Given the description of an element on the screen output the (x, y) to click on. 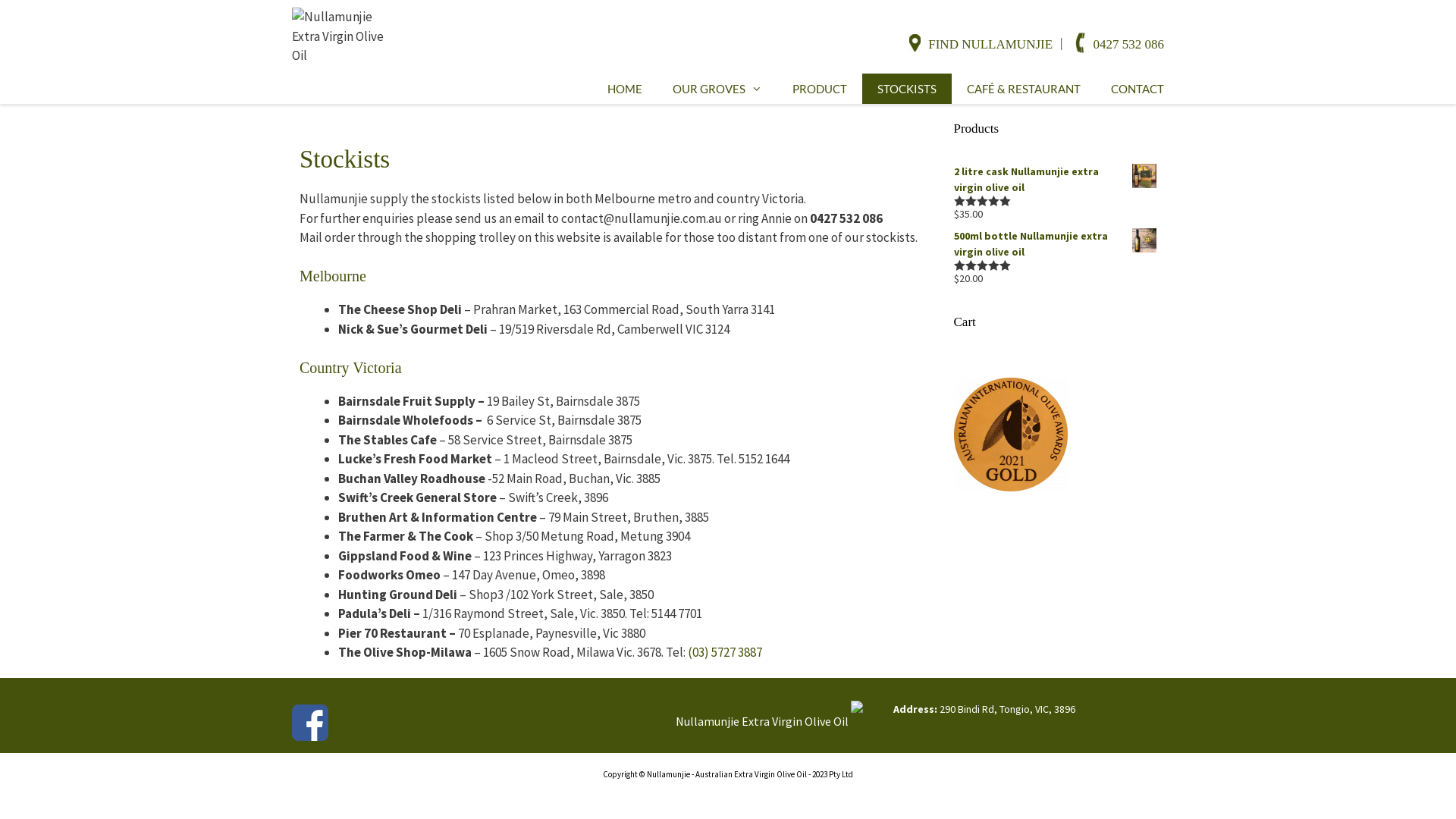
Nullamunjie Extra Virgin Olive Oil Element type: hover (340, 34)
Skip to content Element type: text (0, 0)
CONTACT Element type: text (1137, 87)
2 litre cask Nullamunjie extra virgin olive oil Element type: text (1055, 179)
FIND NULLAMUNJIE Element type: text (990, 44)
(03) 5727 3887 Element type: text (724, 651)
500ml bottle Nullamunjie extra virgin olive oil Element type: text (1055, 244)
0427 532 086 Element type: text (1128, 44)
PRODUCT Element type: text (819, 87)
STOCKISTS Element type: text (906, 87)
OUR GROVES Element type: text (717, 87)
Nullamunjie Extra Virgin Olive Oil Element type: hover (340, 36)
HOME Element type: text (624, 87)
